Given the description of an element on the screen output the (x, y) to click on. 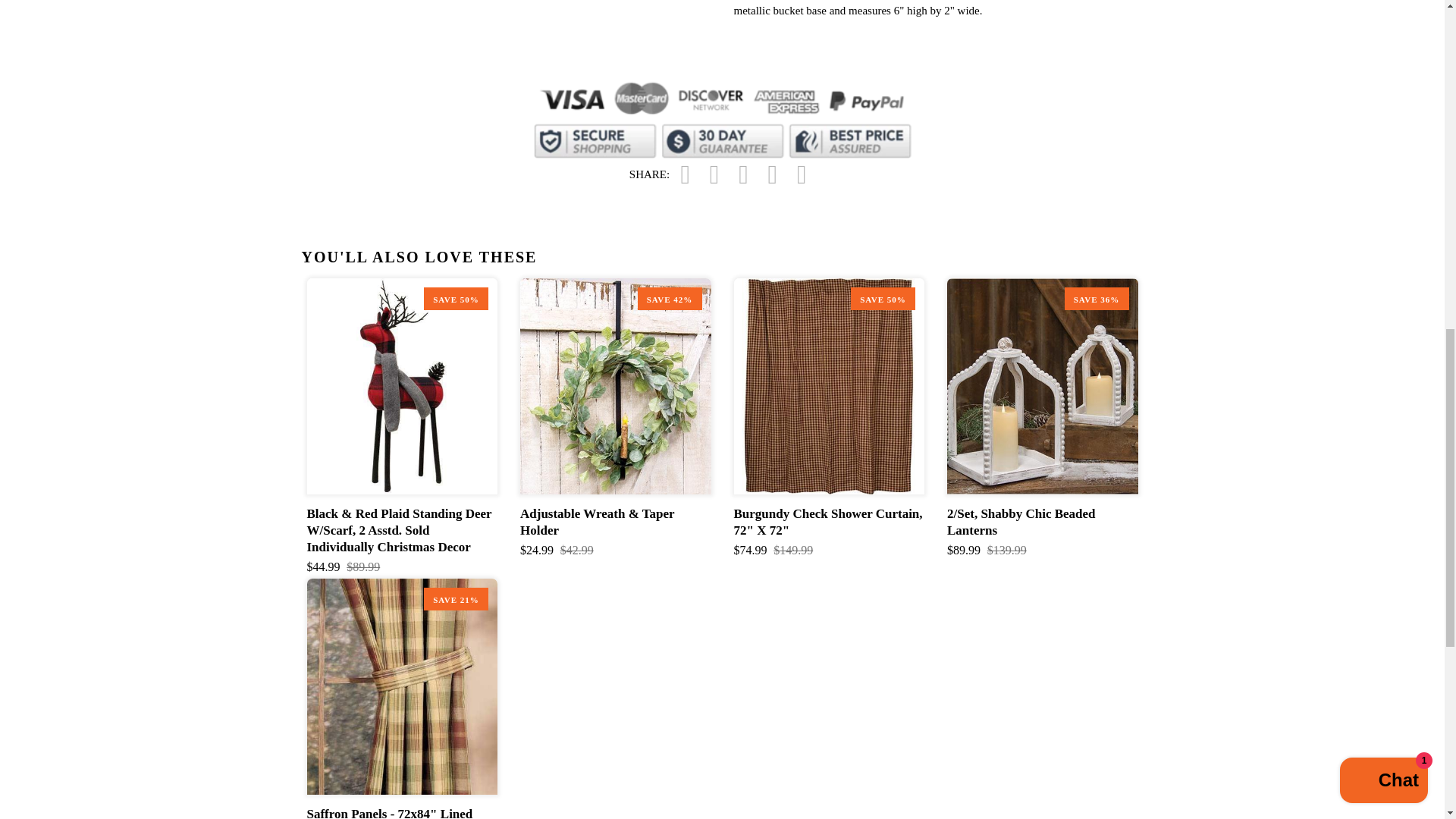
Pin on Pinterest (743, 174)
Share on Whatsapp (802, 174)
Reddit (773, 174)
Tweet on Twitter (714, 174)
Share on Facebook (685, 174)
